Given the description of an element on the screen output the (x, y) to click on. 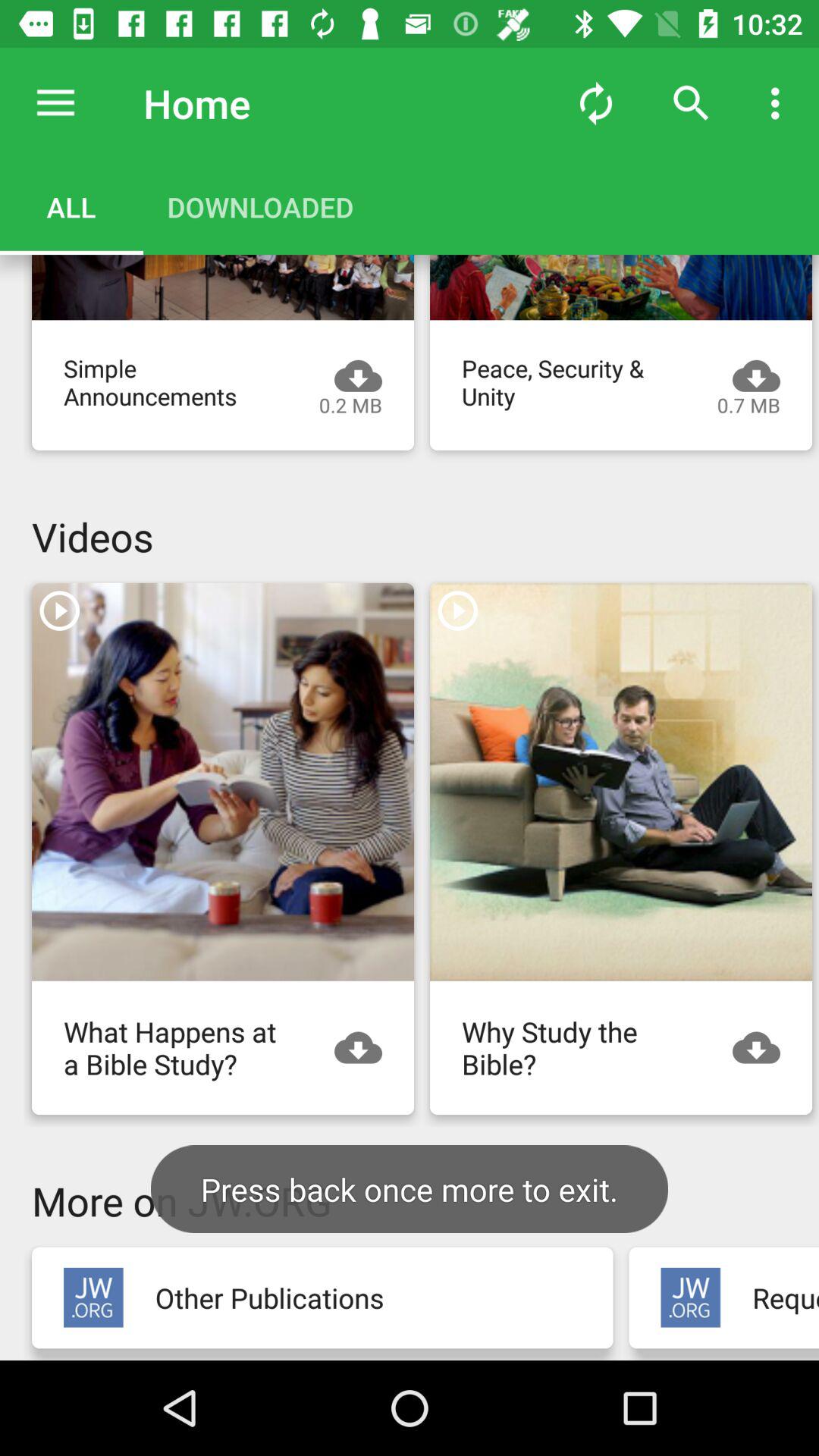
open video (620, 287)
